Given the description of an element on the screen output the (x, y) to click on. 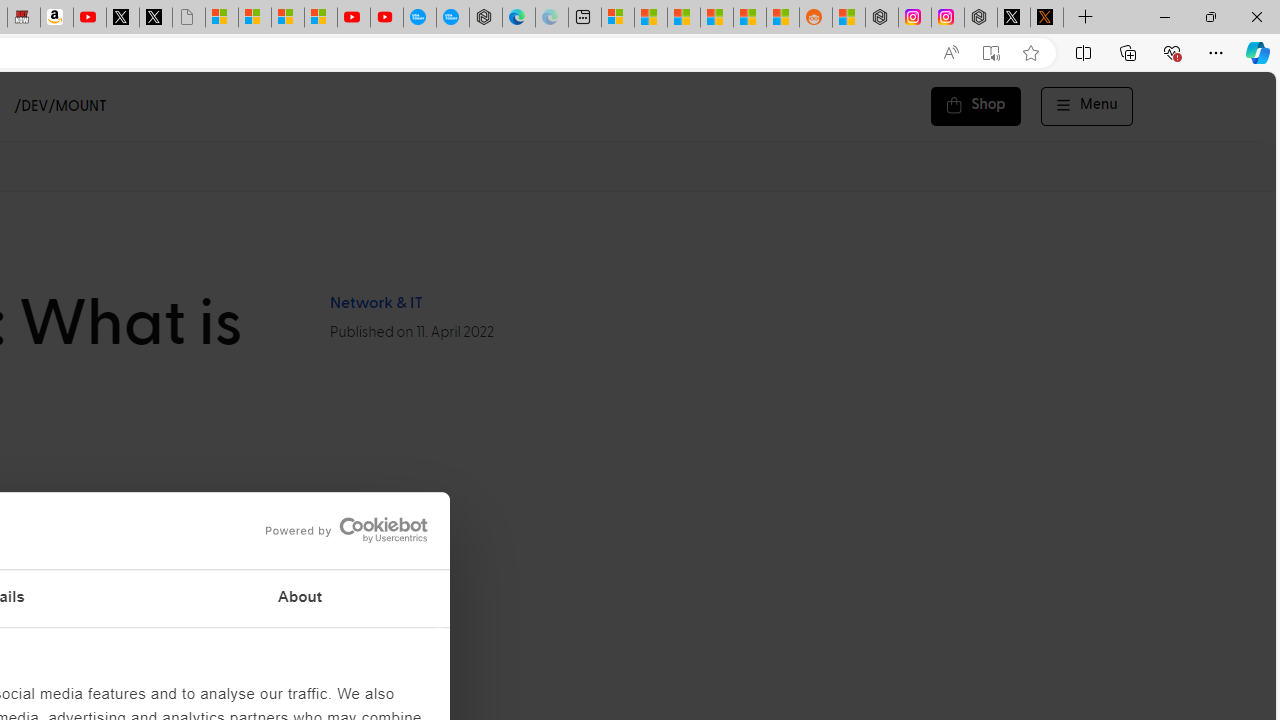
Gloom - YouTube (353, 17)
The most popular Google 'how to' searches (452, 17)
Shanghai, China Weather trends | Microsoft Weather (782, 17)
Nordace (@NordaceOfficial) / X (1014, 17)
About (299, 598)
Shanghai, China hourly forecast | Microsoft Weather (684, 17)
